Given the description of an element on the screen output the (x, y) to click on. 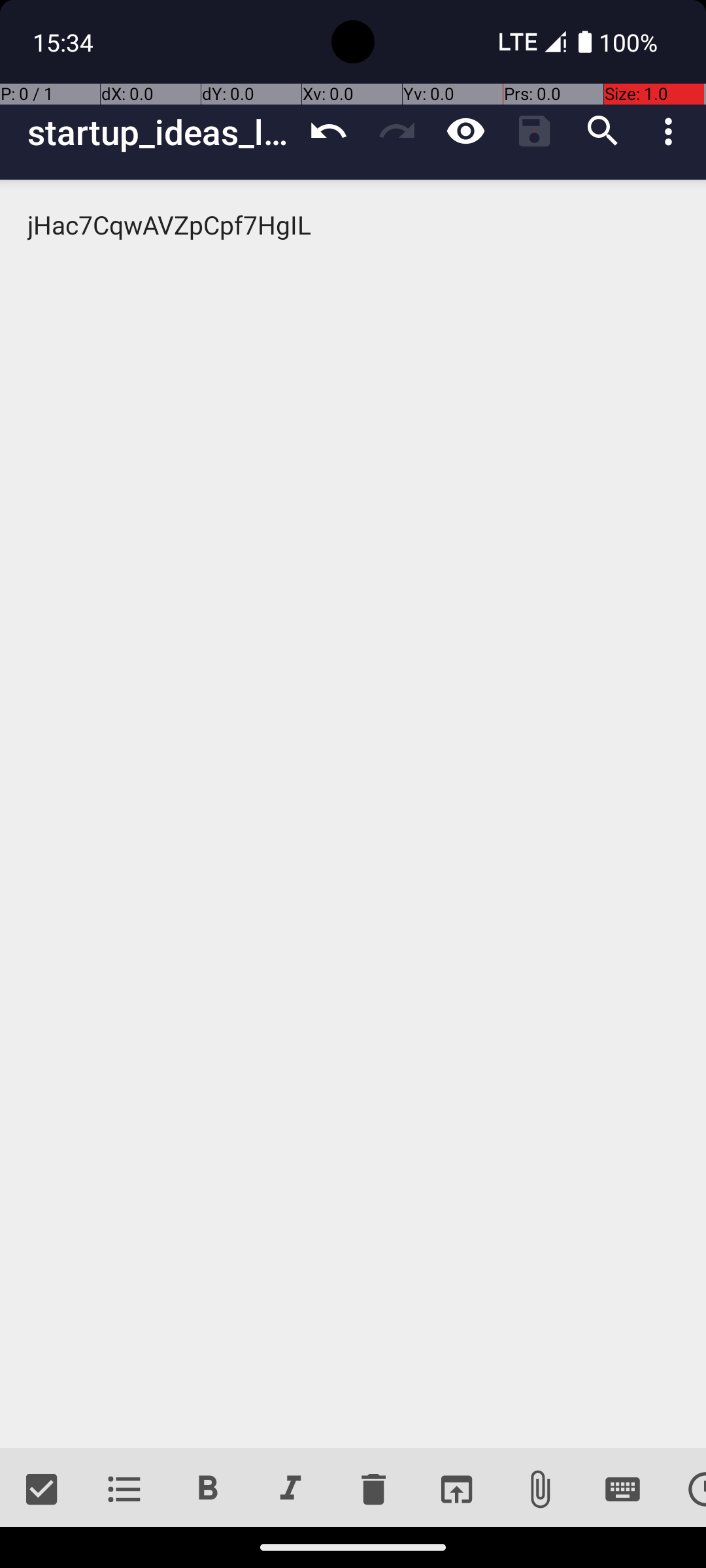
startup_ideas_launch_dqJ3 Element type: android.widget.TextView (160, 131)
jHac7CqwAVZpCpf7HgIL Element type: android.widget.EditText (353, 813)
